Given the description of an element on the screen output the (x, y) to click on. 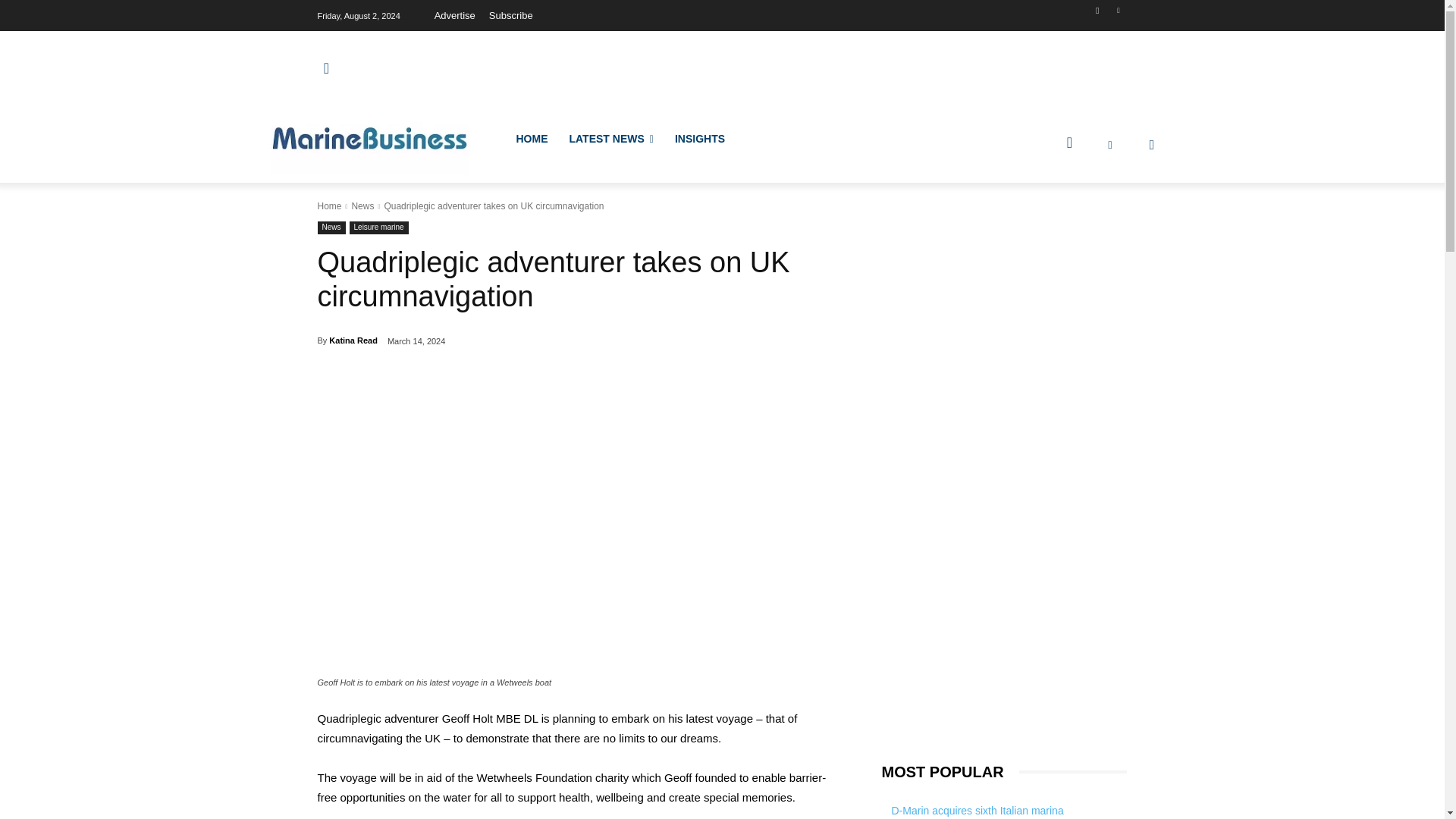
Katina Read (353, 340)
Subscribe (510, 15)
Linkedin (1117, 9)
Leisure marine (379, 227)
HOME (531, 138)
Facebook (1097, 9)
News (331, 227)
Home (328, 205)
LATEST NEWS (610, 138)
Linkedin (1109, 144)
Advertise (454, 15)
INSIGHTS (699, 138)
View all posts in News (362, 205)
News (362, 205)
Facebook (1151, 144)
